Given the description of an element on the screen output the (x, y) to click on. 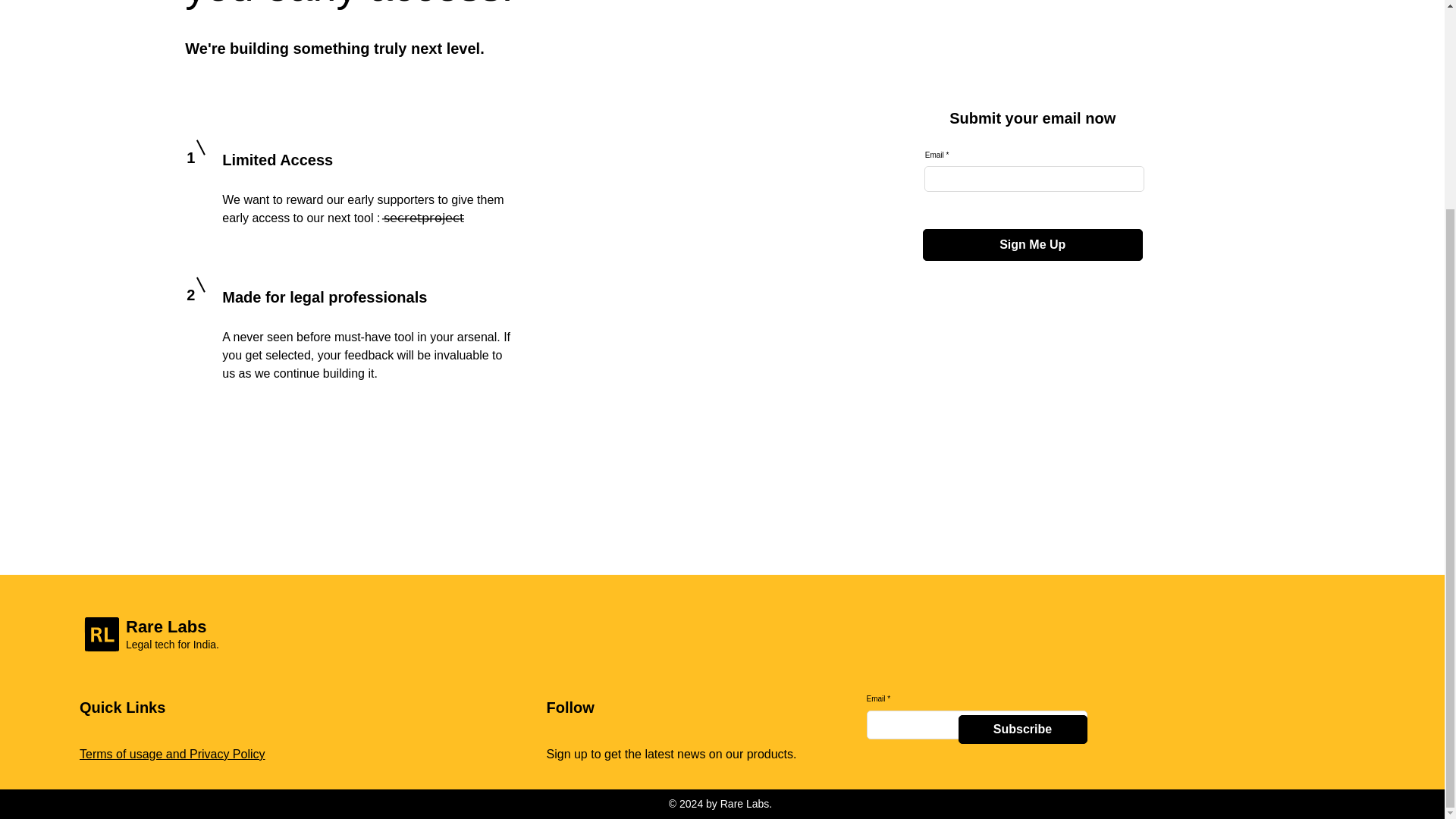
Subscribe (1022, 728)
Sign Me Up (1032, 245)
Terms of usage and Privacy Policy (172, 753)
Rare Labs (165, 626)
